Given the description of an element on the screen output the (x, y) to click on. 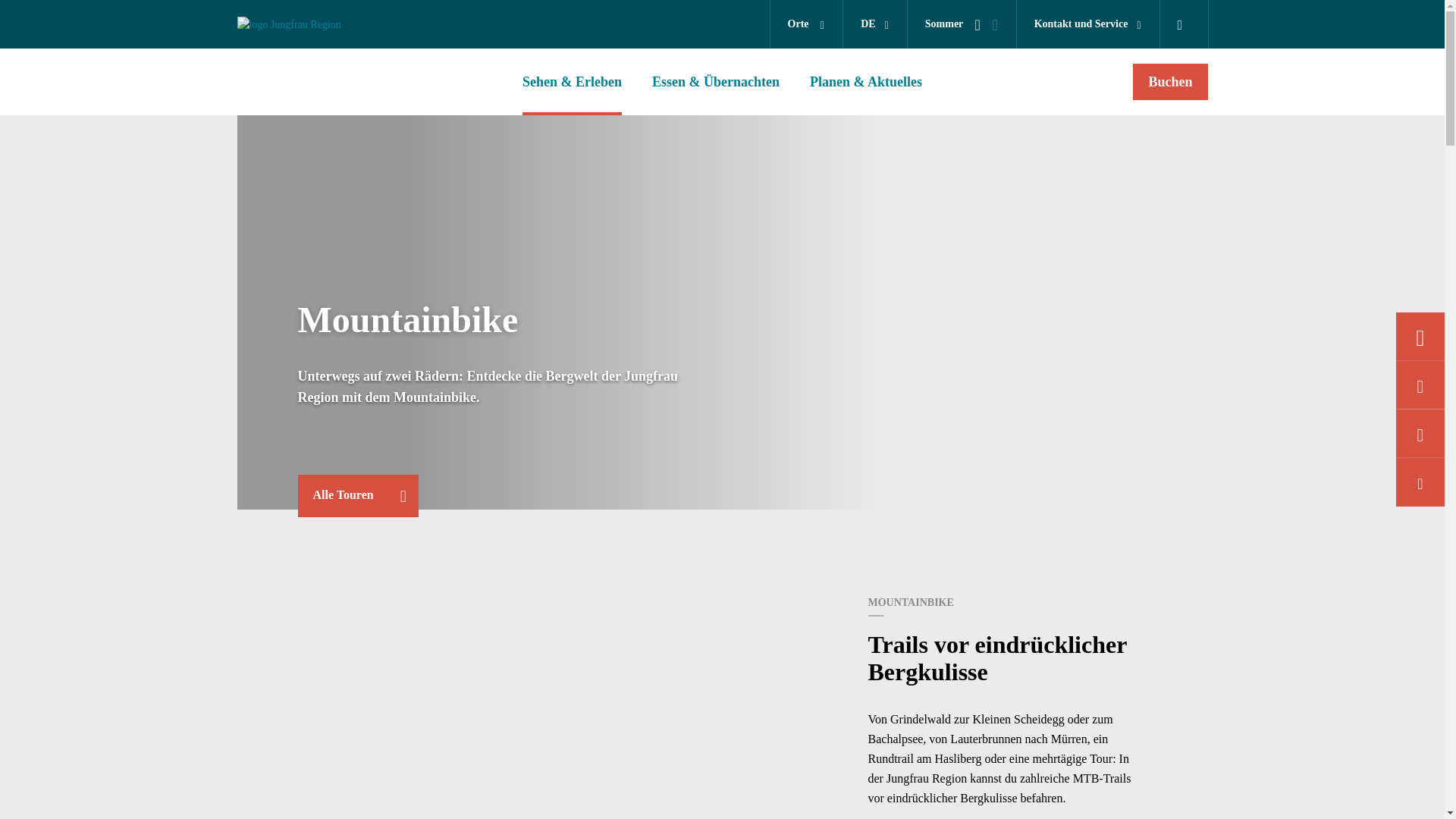
Sehen & Erleben Element type: text (571, 81)
Alle Touren Element type: text (357, 495)
DE Element type: text (874, 24)
Kontakt und Service Element type: text (1087, 24)
Orte Element type: text (806, 24)
Planen & Aktuelles Element type: text (865, 81)
Buchen Element type: text (1169, 81)
